Given the description of an element on the screen output the (x, y) to click on. 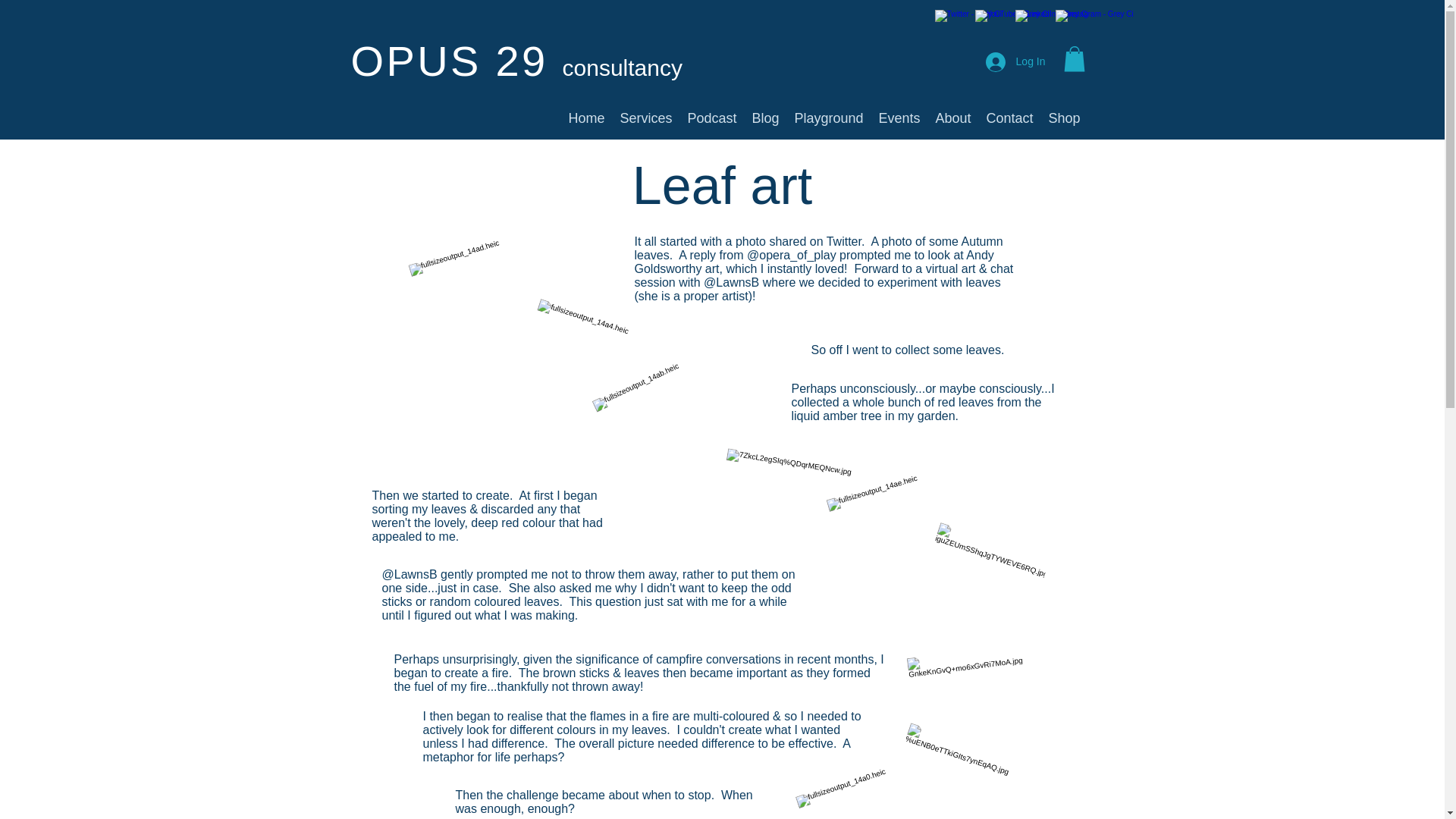
Services (645, 117)
OPUS 29 consultancy (515, 60)
Podcast (711, 117)
Shop (1064, 117)
Home (586, 117)
Events (898, 117)
Blog (765, 117)
Log In (1016, 61)
About (953, 117)
Playground (828, 117)
